Given the description of an element on the screen output the (x, y) to click on. 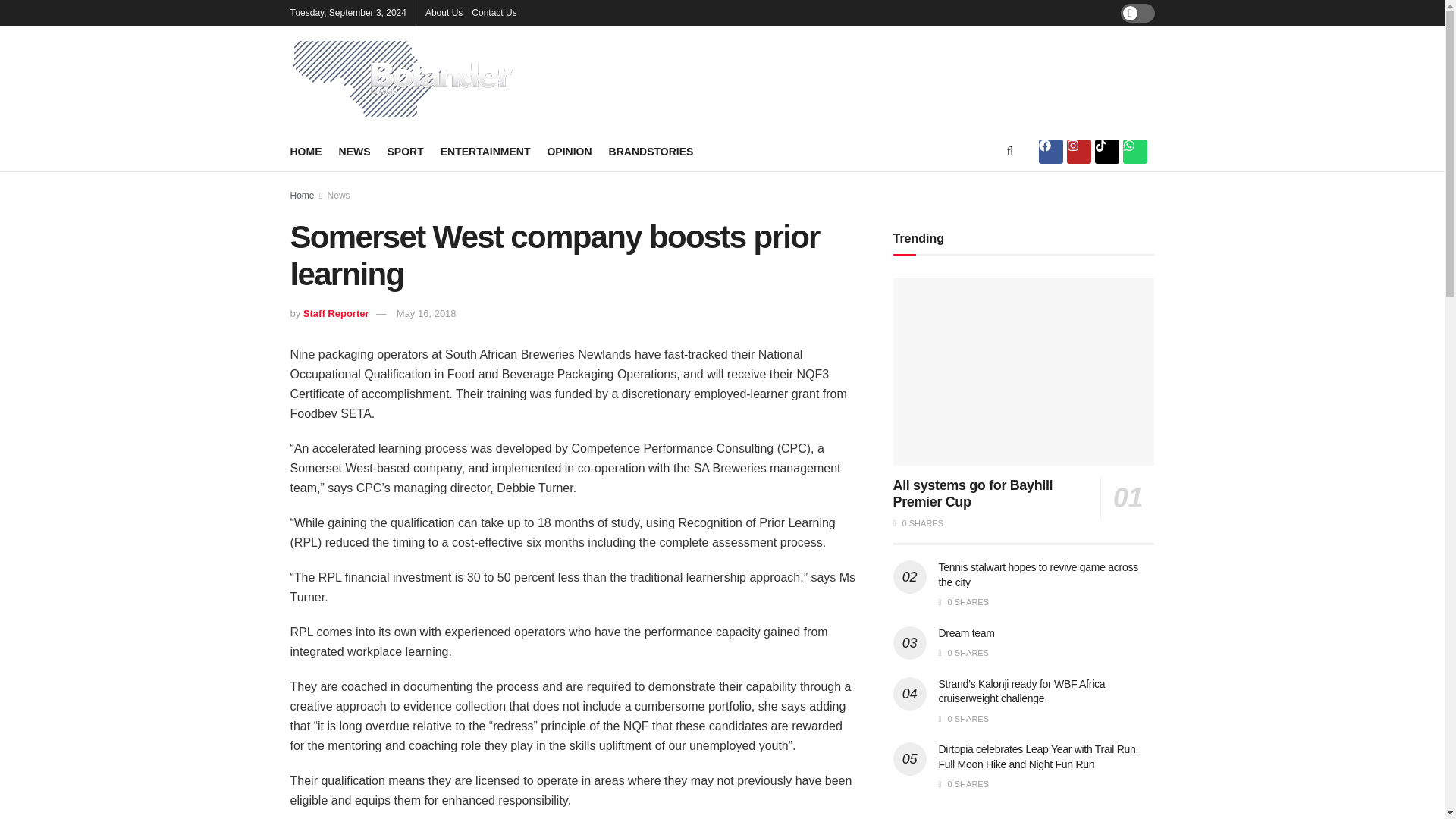
Staff Reporter (335, 313)
ENTERTAINMENT (486, 151)
Contact Us (493, 12)
SPORT (405, 151)
News (338, 195)
Home (301, 195)
May 16, 2018 (426, 313)
OPINION (569, 151)
HOME (305, 151)
BRANDSTORIES (651, 151)
